Given the description of an element on the screen output the (x, y) to click on. 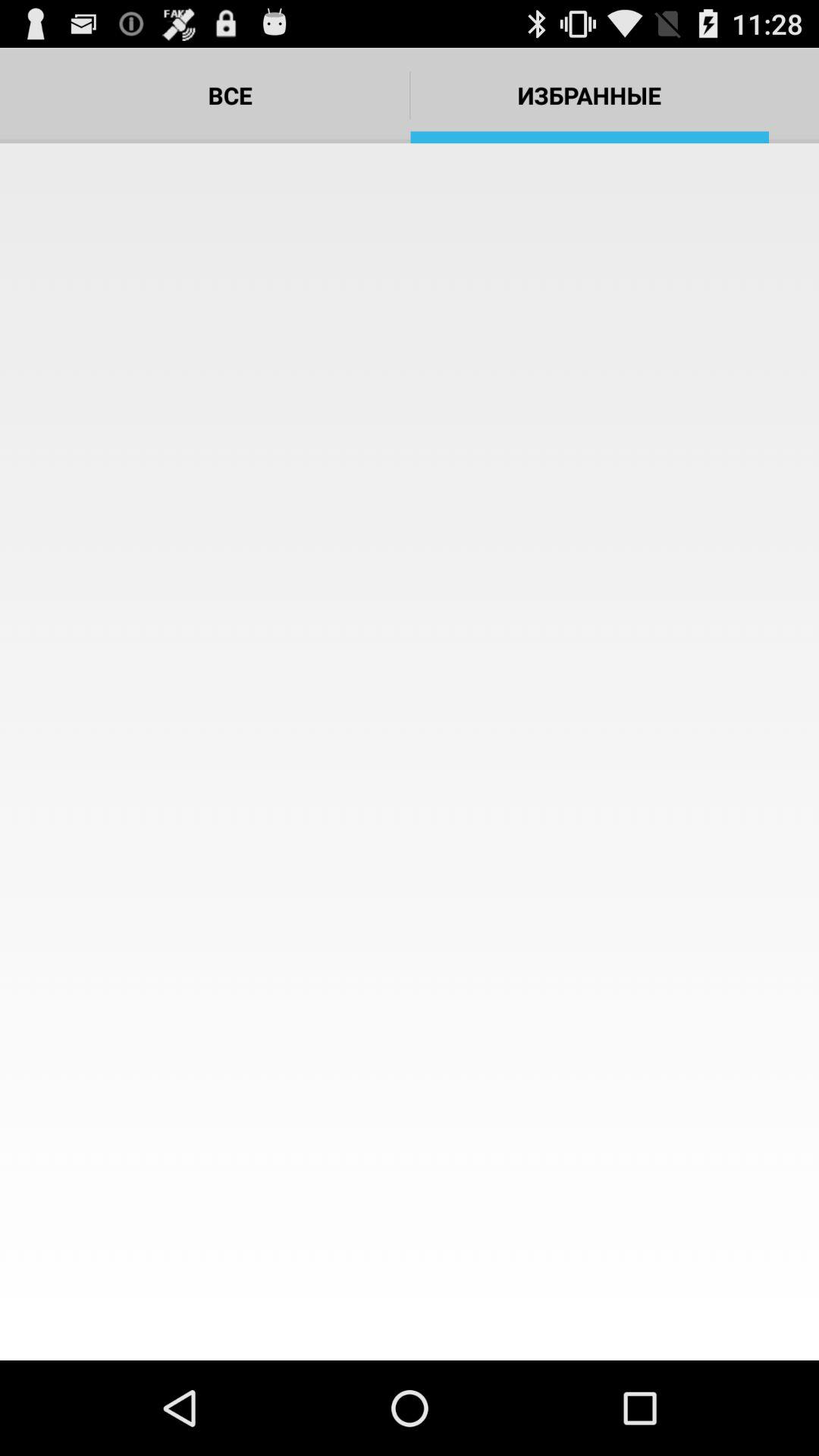
turn off the item at the center (409, 751)
